Given the description of an element on the screen output the (x, y) to click on. 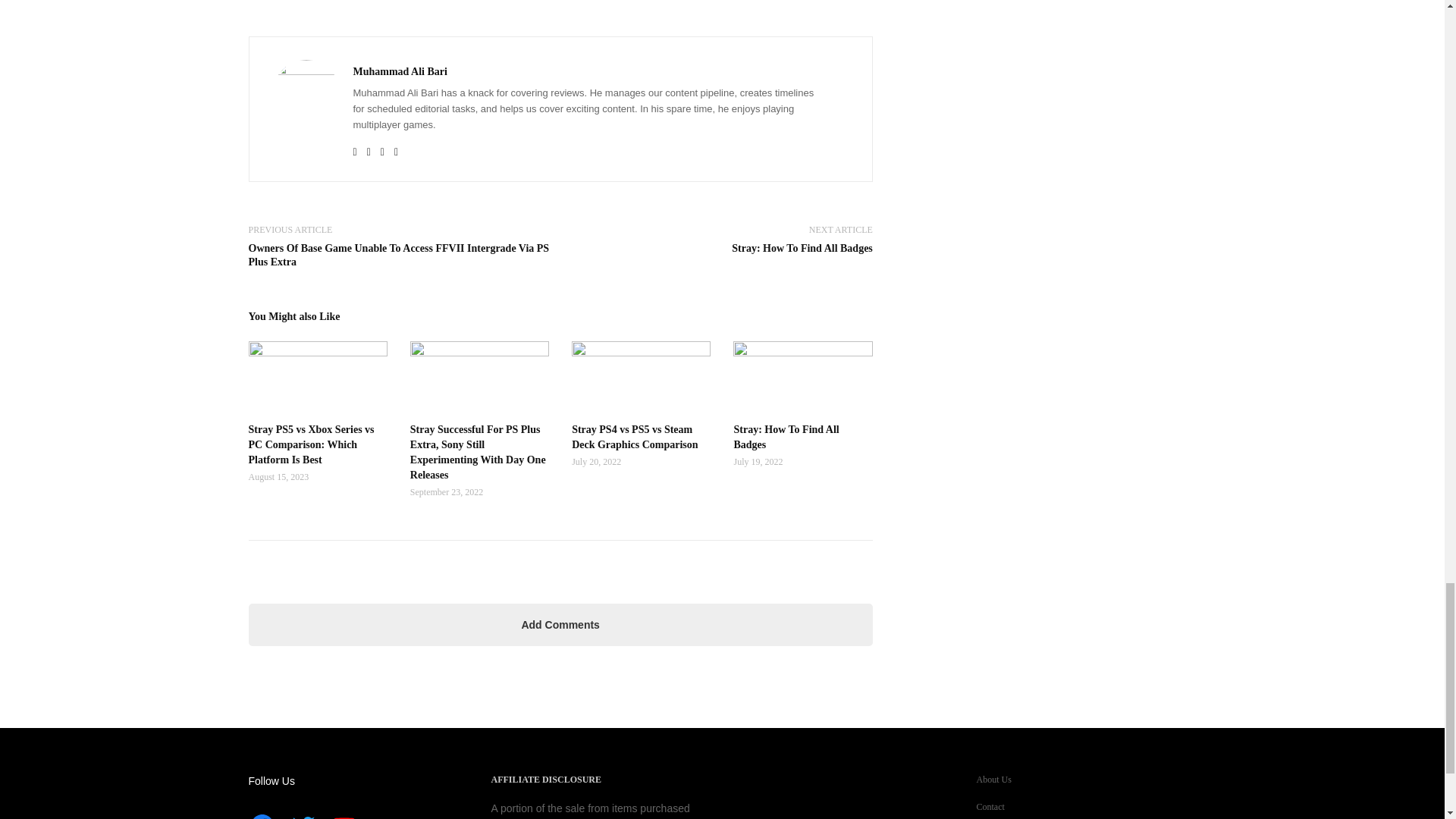
Muhammad Ali Bari (399, 71)
Stray: How To Find All Badges (802, 247)
